Given the description of an element on the screen output the (x, y) to click on. 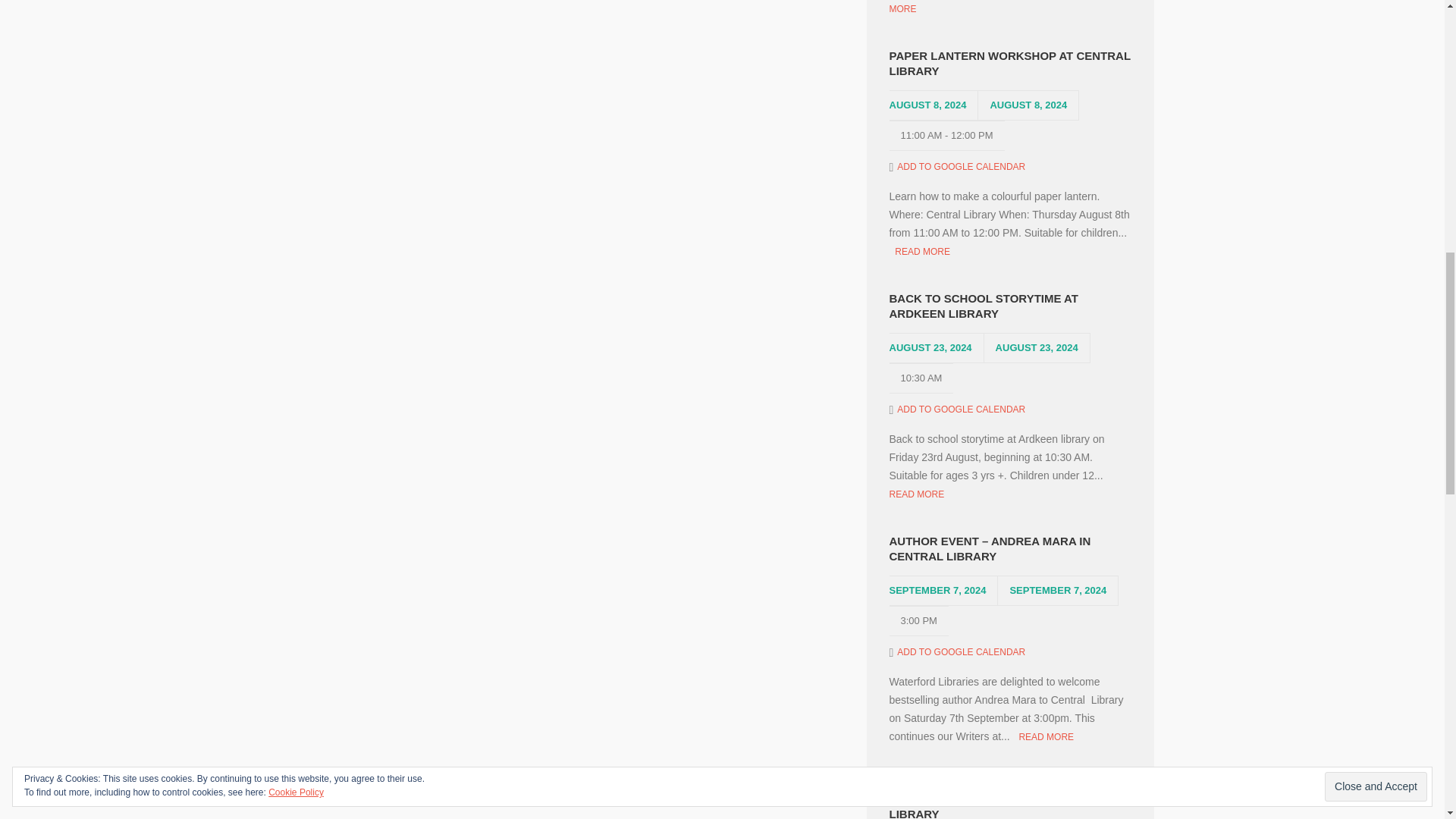
Permalink to: Back to School Storytime at Ardkeen Library (1009, 306)
Permalink to: Paper Lantern Workshop at Central Library (1009, 63)
